Given the description of an element on the screen output the (x, y) to click on. 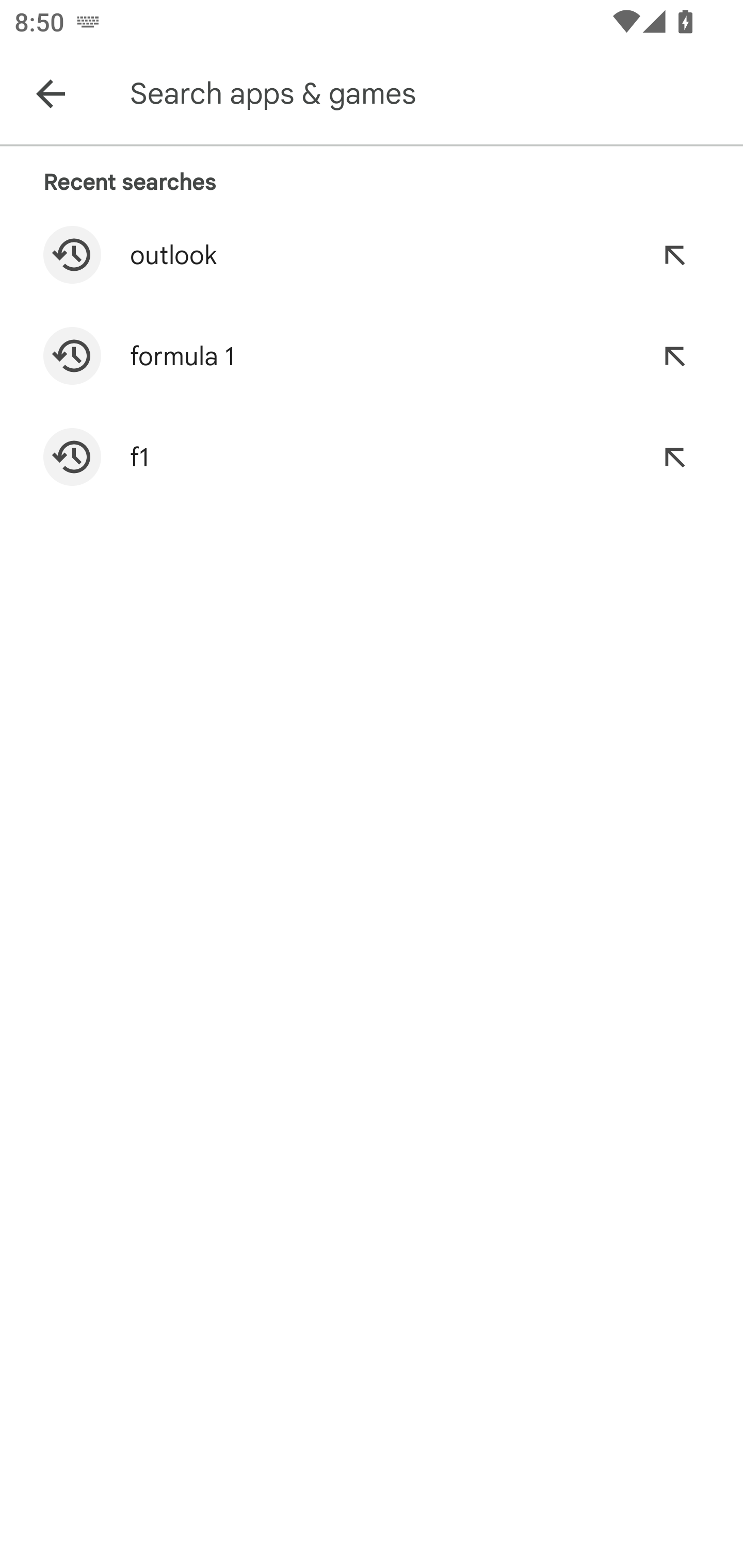
Navigate up (50, 93)
Search apps & games (432, 93)
Search for "outlook"  Refine search to "outlook" (371, 254)
Refine search to "outlook" (673, 254)
Refine search to "formula 1" (673, 355)
Search for "f1"  Refine search to "f1" (371, 457)
Refine search to "f1" (673, 457)
